Given the description of an element on the screen output the (x, y) to click on. 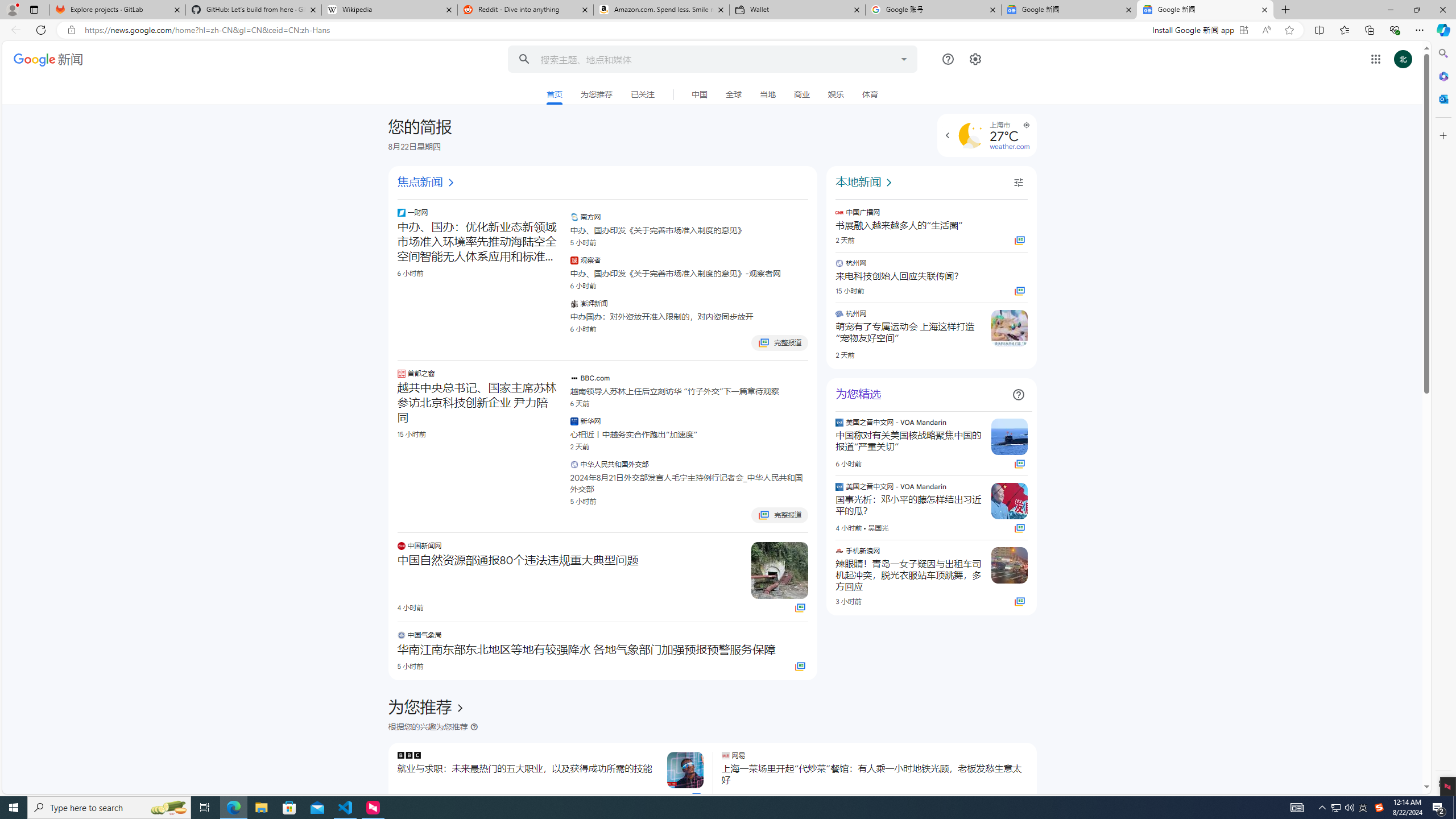
AutomationID: i10 (450, 182)
Class: gb_E (1375, 59)
